Given the description of an element on the screen output the (x, y) to click on. 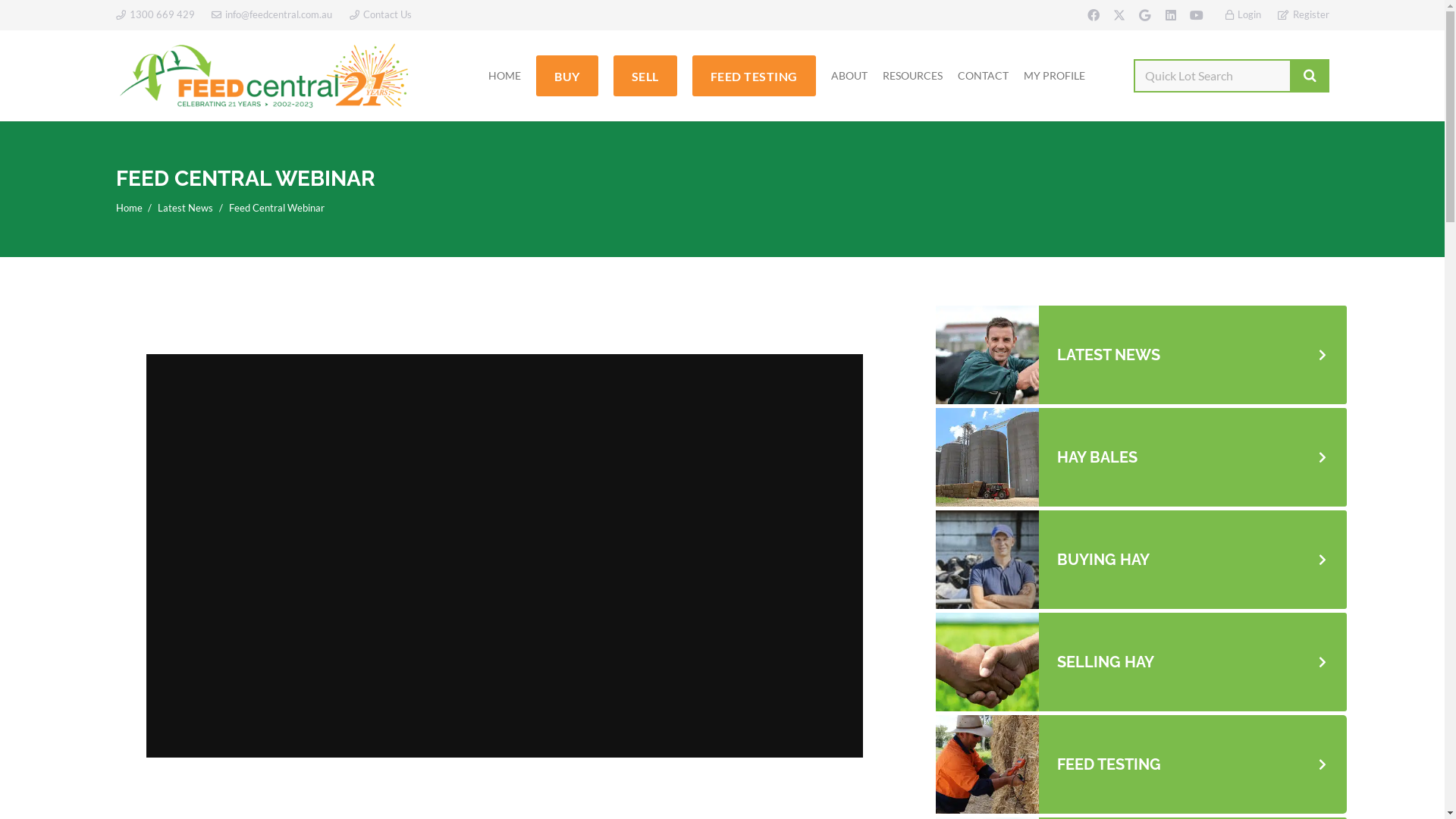
BUYING HAY Element type: text (1140, 559)
ABOUT Element type: text (849, 75)
LinkedIn Element type: hover (1170, 15)
info@feedcentral.com.au Element type: text (271, 14)
SELL Element type: text (645, 75)
RESOURCES Element type: text (912, 75)
Register Element type: text (1302, 14)
MY PROFILE Element type: text (1054, 75)
FEED TESTING Element type: text (1140, 764)
Google Element type: hover (1144, 15)
Twitter Element type: hover (1119, 15)
Feed Central Webinar Element type: text (276, 207)
BUY Element type: text (566, 75)
Facebook Element type: hover (1093, 15)
Login Element type: text (1243, 14)
1300 669 429 Element type: text (154, 14)
YouTube Element type: hover (1196, 15)
Youtube video player Element type: hover (503, 555)
HAY BALES Element type: text (1140, 456)
Home Element type: text (128, 207)
CONTACT Element type: text (983, 75)
HOME Element type: text (504, 75)
SELLING HAY Element type: text (1140, 661)
Contact Us Element type: text (379, 14)
Latest News Element type: text (185, 207)
FEED TESTING Element type: text (753, 75)
LATEST NEWS Element type: text (1140, 354)
